Given the description of an element on the screen output the (x, y) to click on. 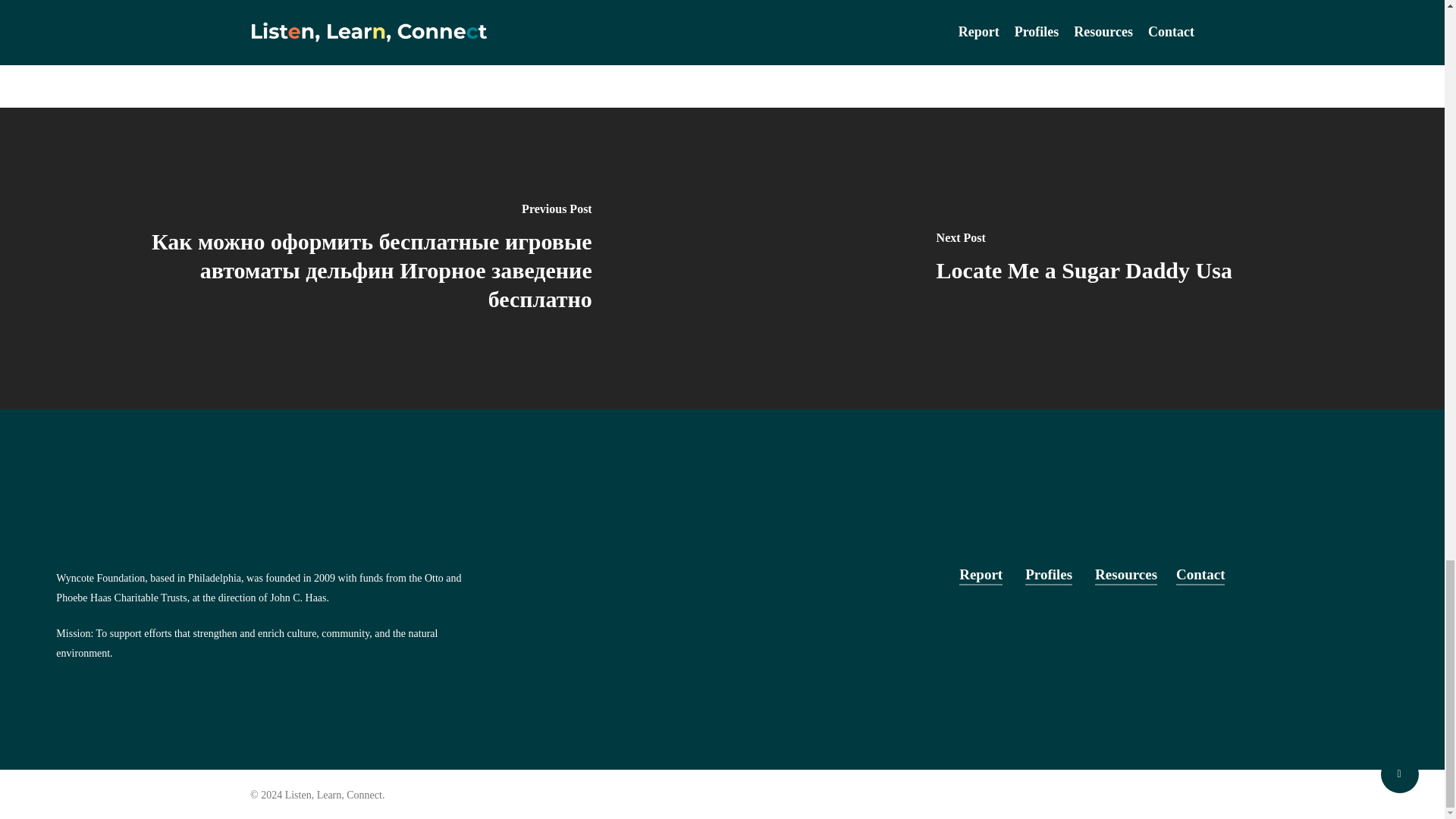
Contact (1200, 574)
Report (981, 574)
wyncote (468, 5)
Profiles (1048, 574)
Resources (1125, 574)
